Given the description of an element on the screen output the (x, y) to click on. 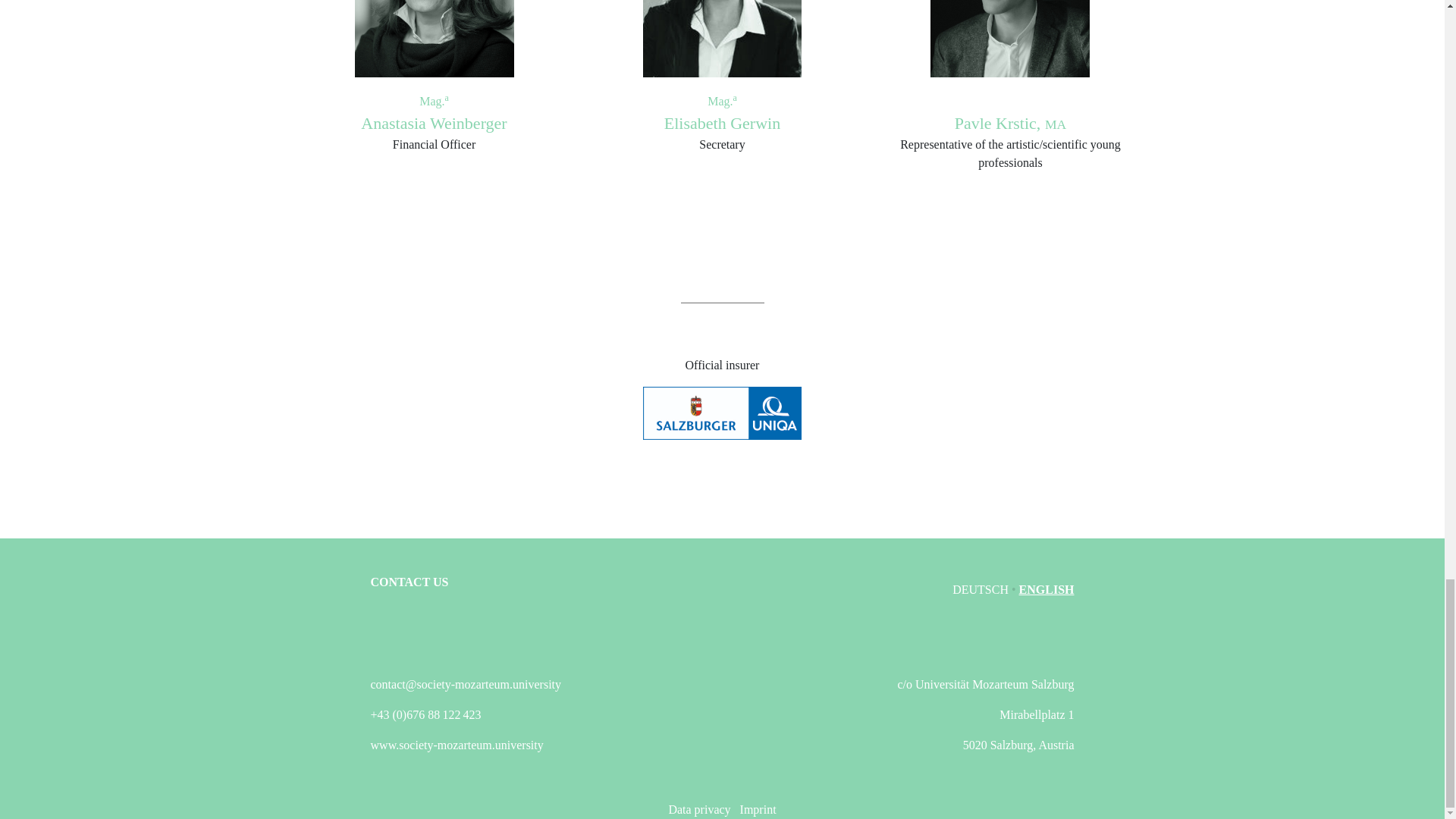
Data privacy (699, 809)
www.society-mozarteum.university (457, 744)
DEUTSCH (981, 589)
Imprint (757, 809)
ENGLISH (1046, 589)
